Given the description of an element on the screen output the (x, y) to click on. 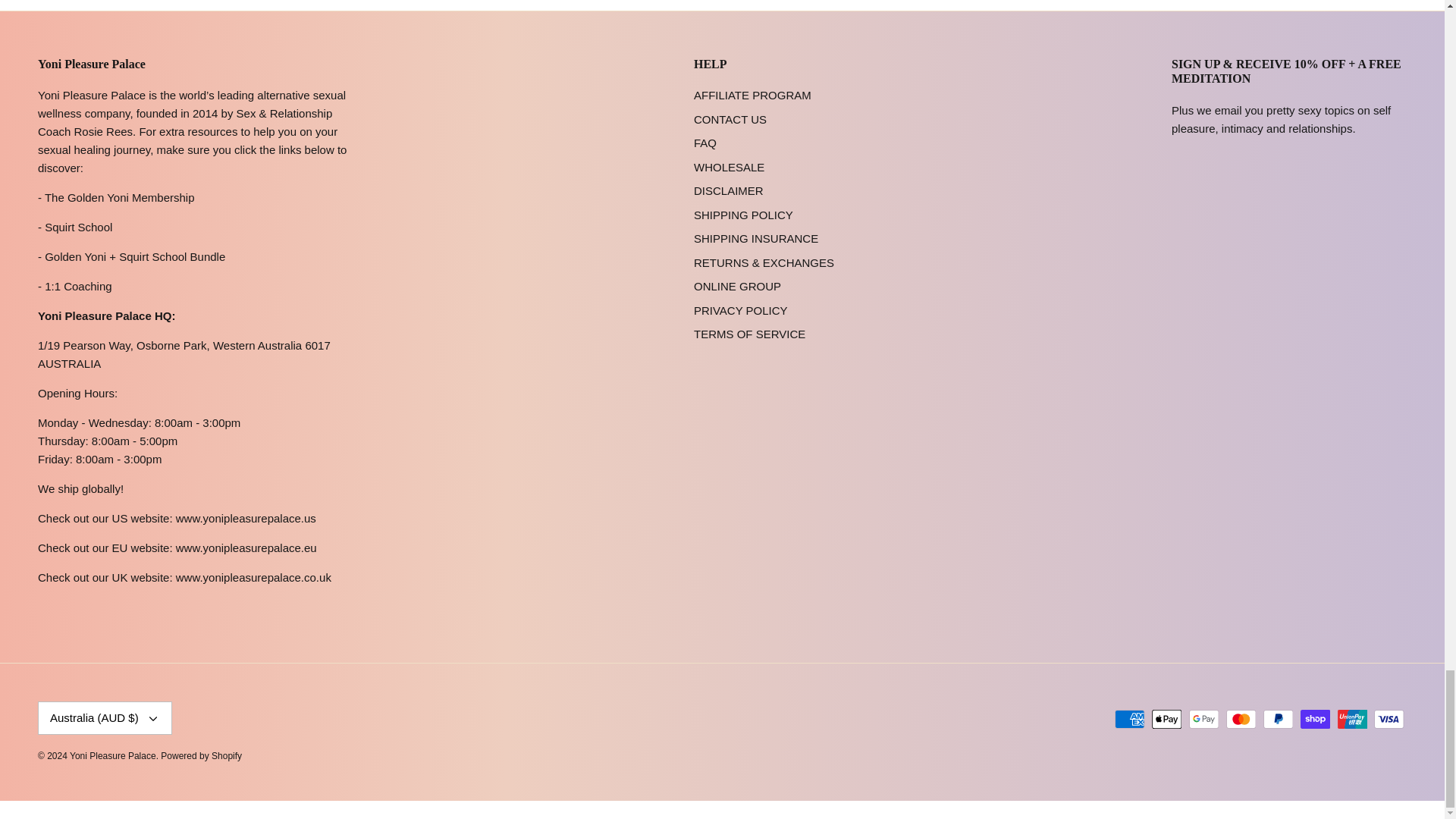
Down (153, 718)
Apple Pay (1166, 719)
Visa (1388, 719)
Union Pay (1352, 719)
Shop Pay (1315, 719)
PayPal (1277, 719)
Google Pay (1203, 719)
American Express (1129, 719)
Mastercard (1240, 719)
